Given the description of an element on the screen output the (x, y) to click on. 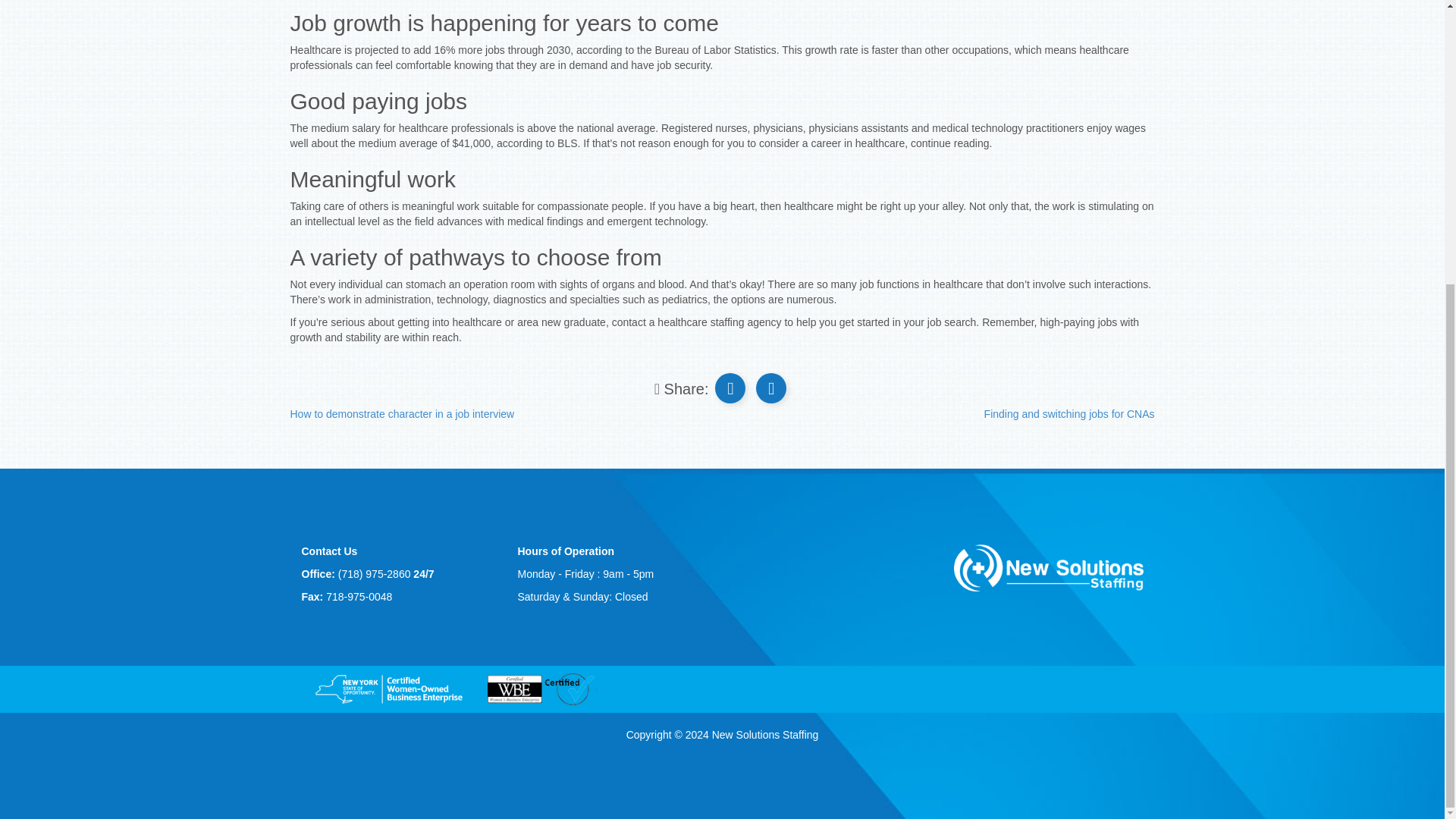
718-975-0048 (358, 596)
Finding and switching jobs for CNAs (1069, 413)
How to demonstrate character in a job interview (401, 413)
